Given the description of an element on the screen output the (x, y) to click on. 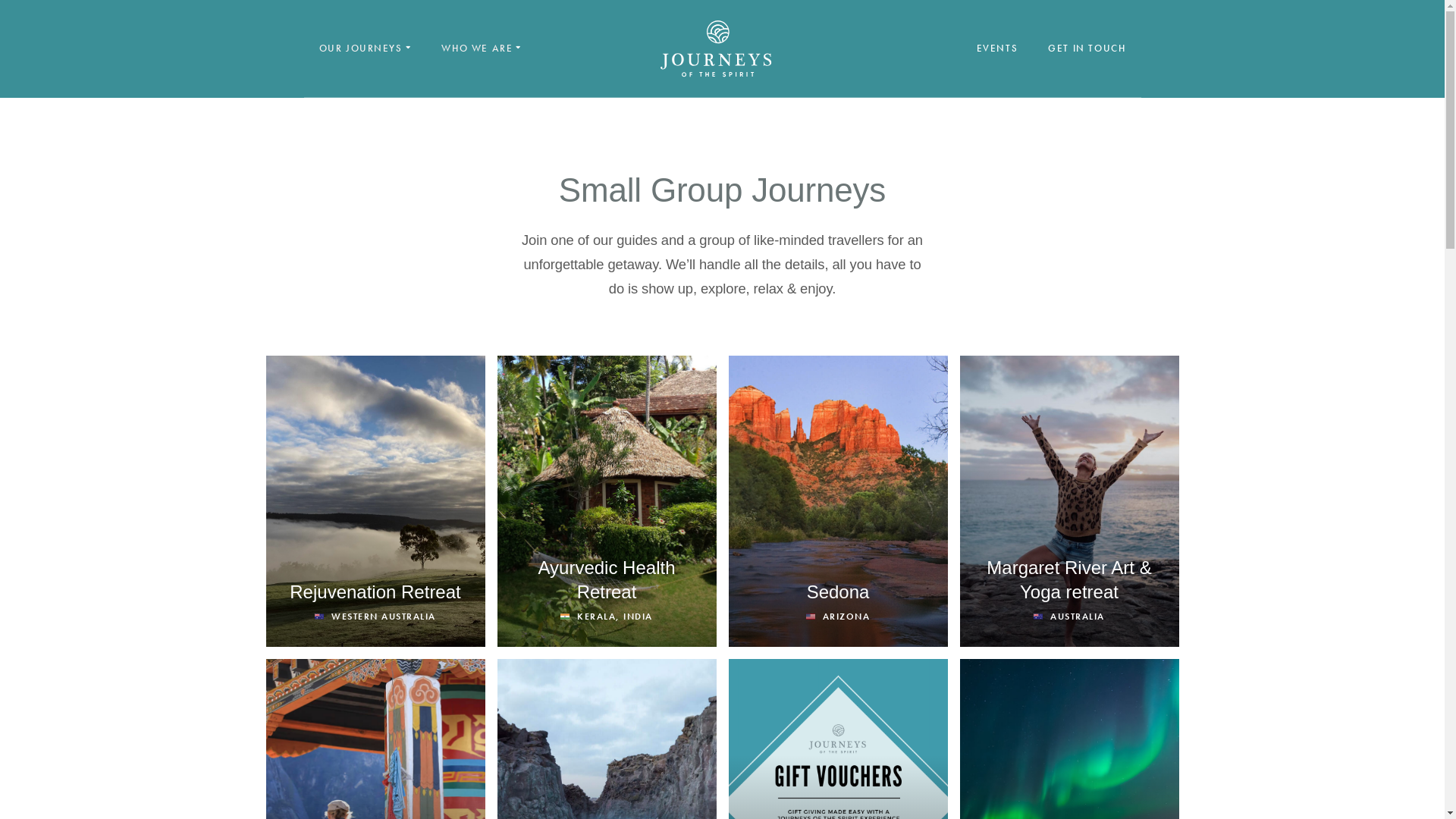
Margaret River Art & Yoga retreat
AUSTRALIA Element type: text (1069, 500)
GET IN TOUCH Element type: text (1086, 48)
Ayurvedic Health Retreat
KERALA, INDIA Element type: text (606, 500)
Sedona
ARIZONA Element type: text (837, 500)
EVENTS Element type: text (997, 48)
Rejuvenation Retreat
WESTERN AUSTRALIA Element type: text (374, 500)
